Given the description of an element on the screen output the (x, y) to click on. 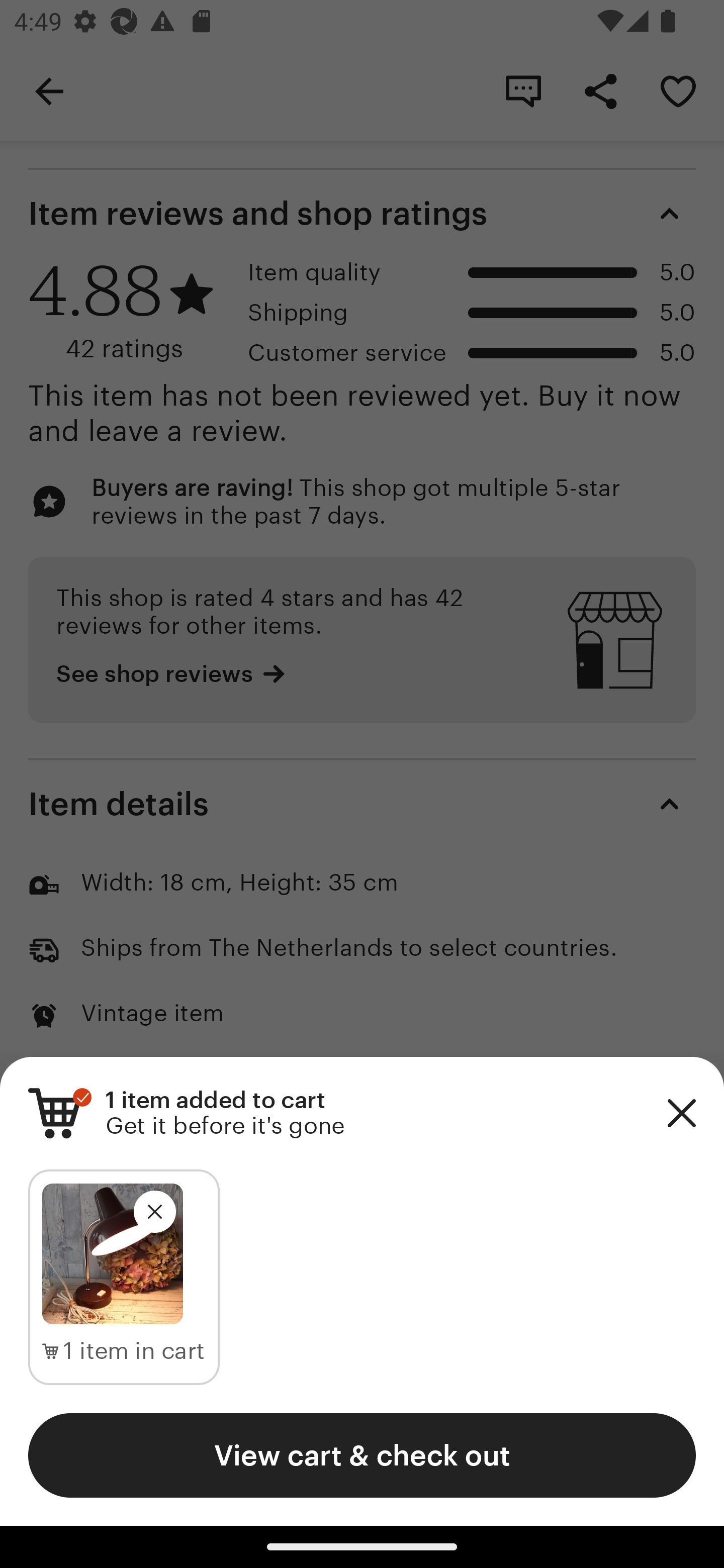
1 item in cart (123, 1351)
View cart & check out (361, 1454)
